Given the description of an element on the screen output the (x, y) to click on. 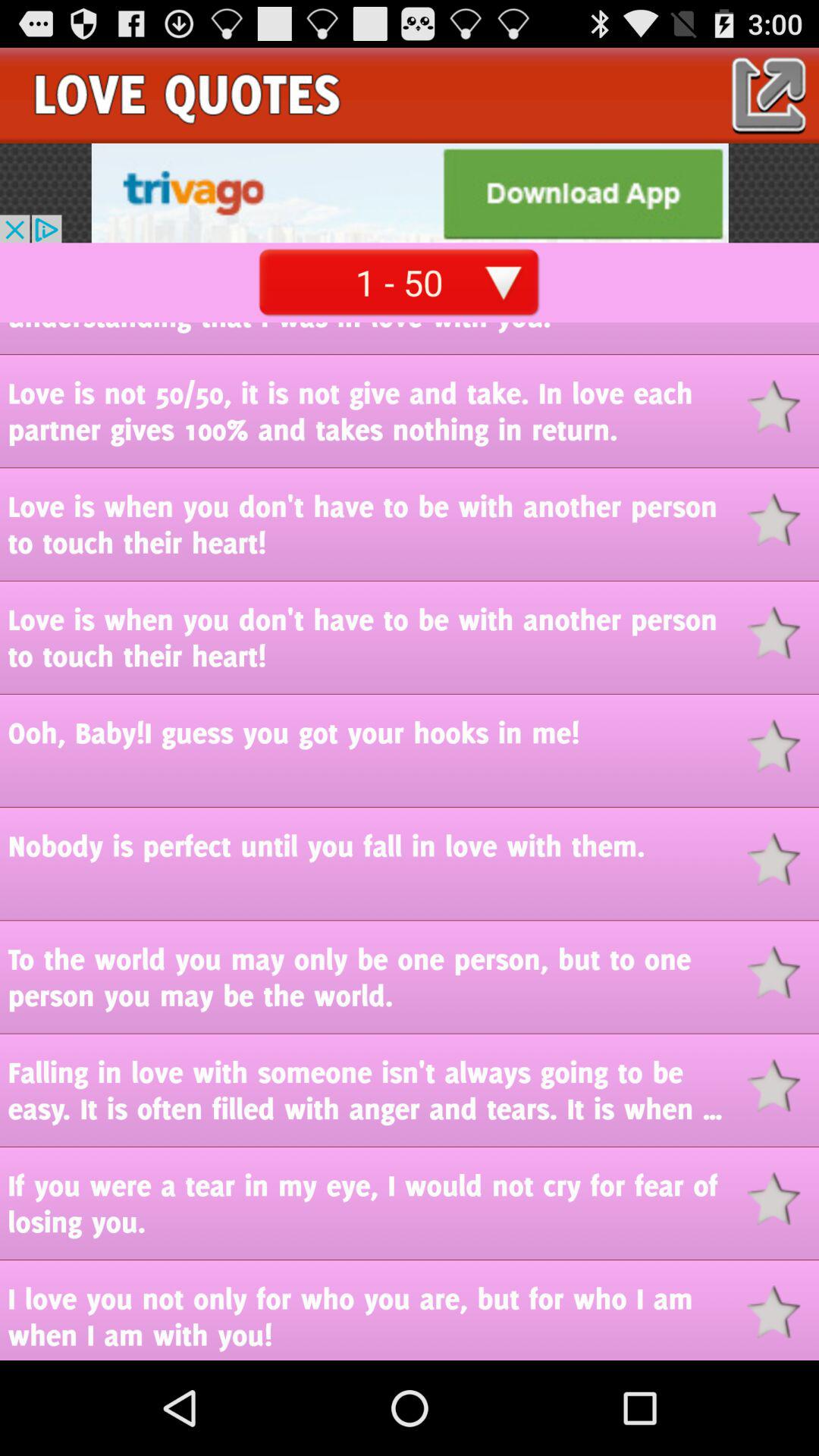
mark as favorite (783, 519)
